Given the description of an element on the screen output the (x, y) to click on. 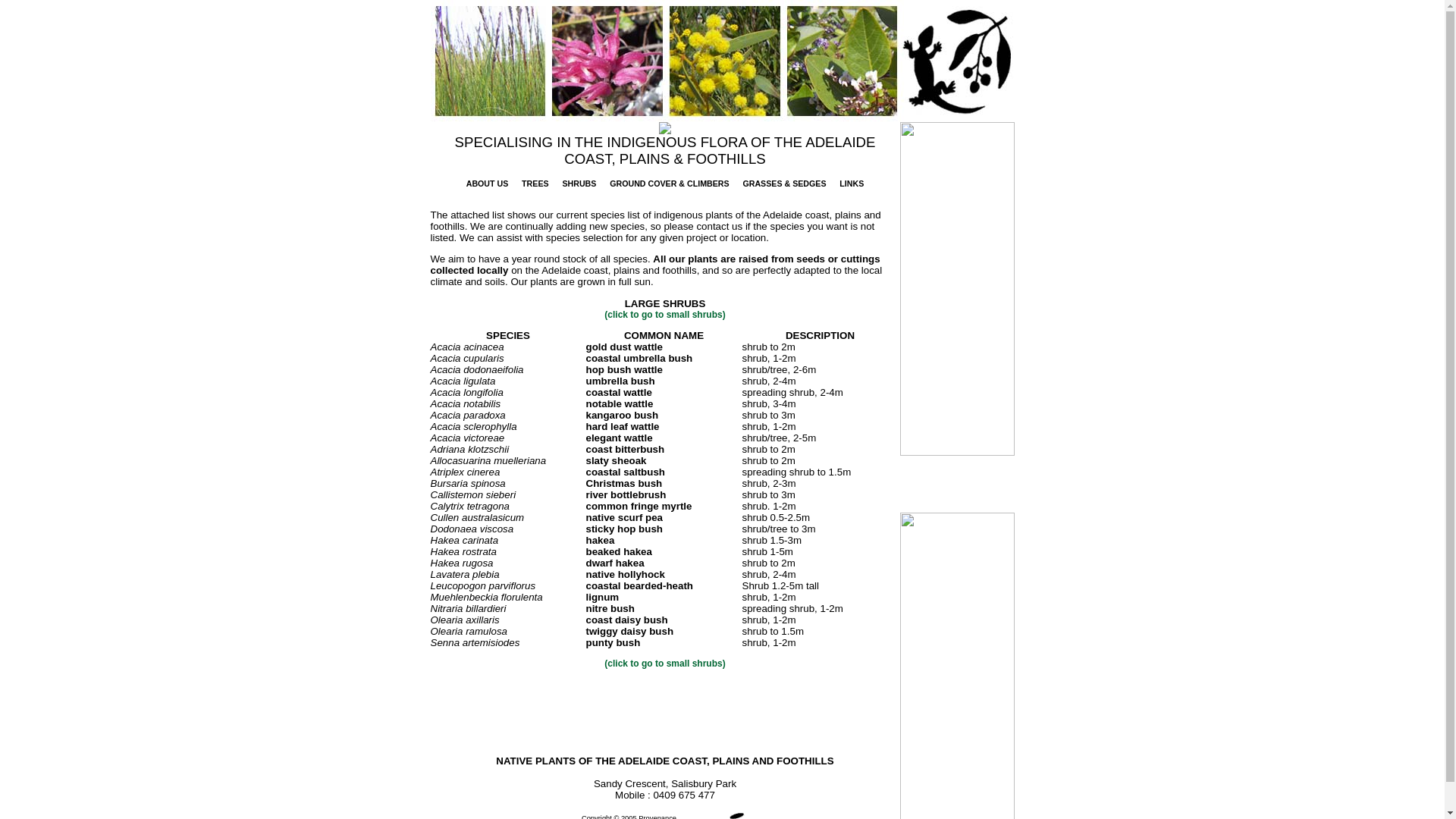
TREES Element type: text (535, 183)
(click to go to small shrubs) Element type: text (664, 314)
(click to go to small shrubs) Element type: text (664, 663)
LINKS Element type: text (851, 183)
ABOUT US Element type: text (487, 183)
GRASSES & SEDGES Element type: text (783, 183)
GROUND COVER & CLIMBERS Element type: text (668, 183)
SHRUBS Element type: text (578, 183)
